Given the description of an element on the screen output the (x, y) to click on. 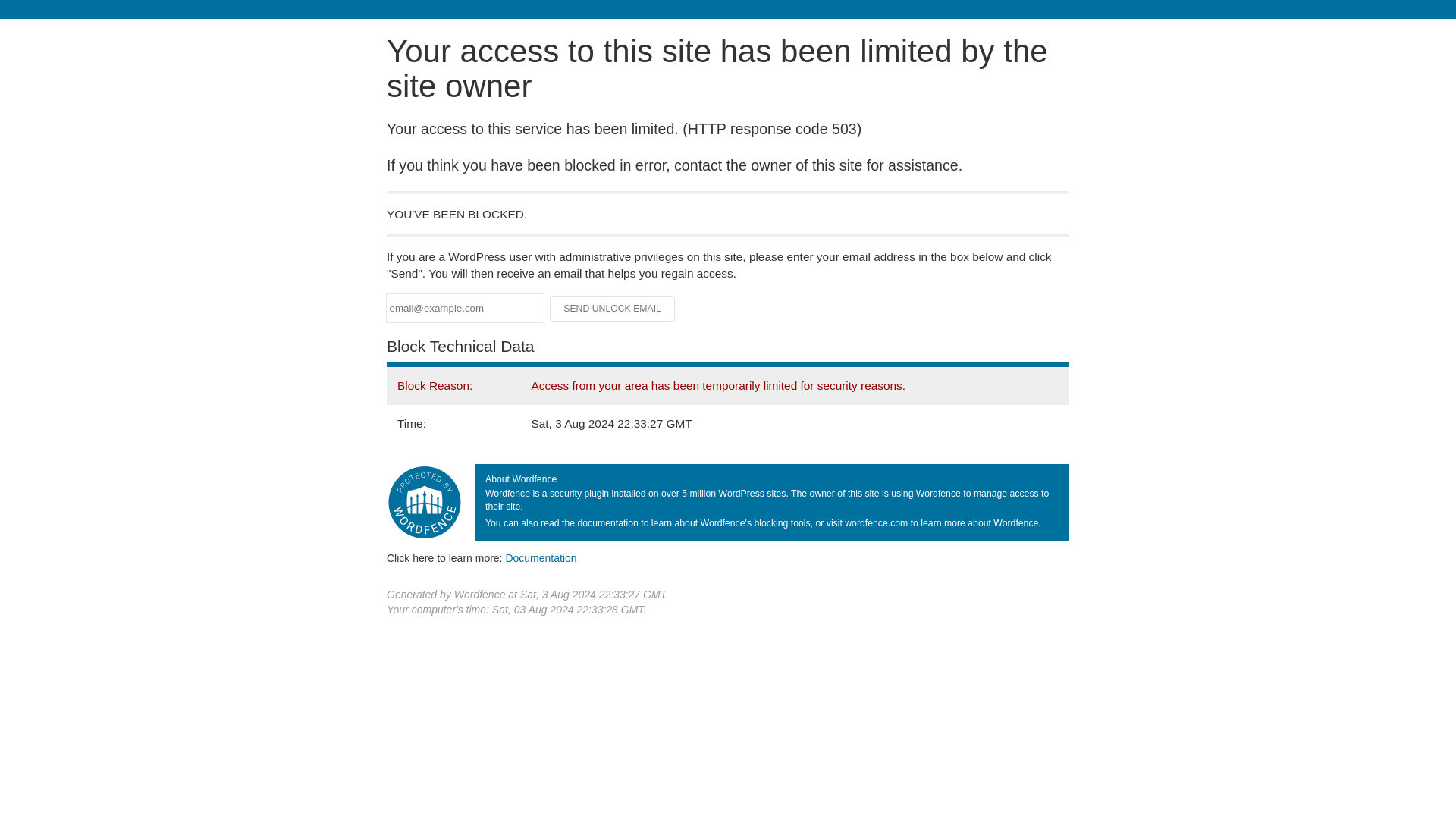
Send Unlock Email (612, 308)
Documentation (540, 558)
Send Unlock Email (612, 308)
